Given the description of an element on the screen output the (x, y) to click on. 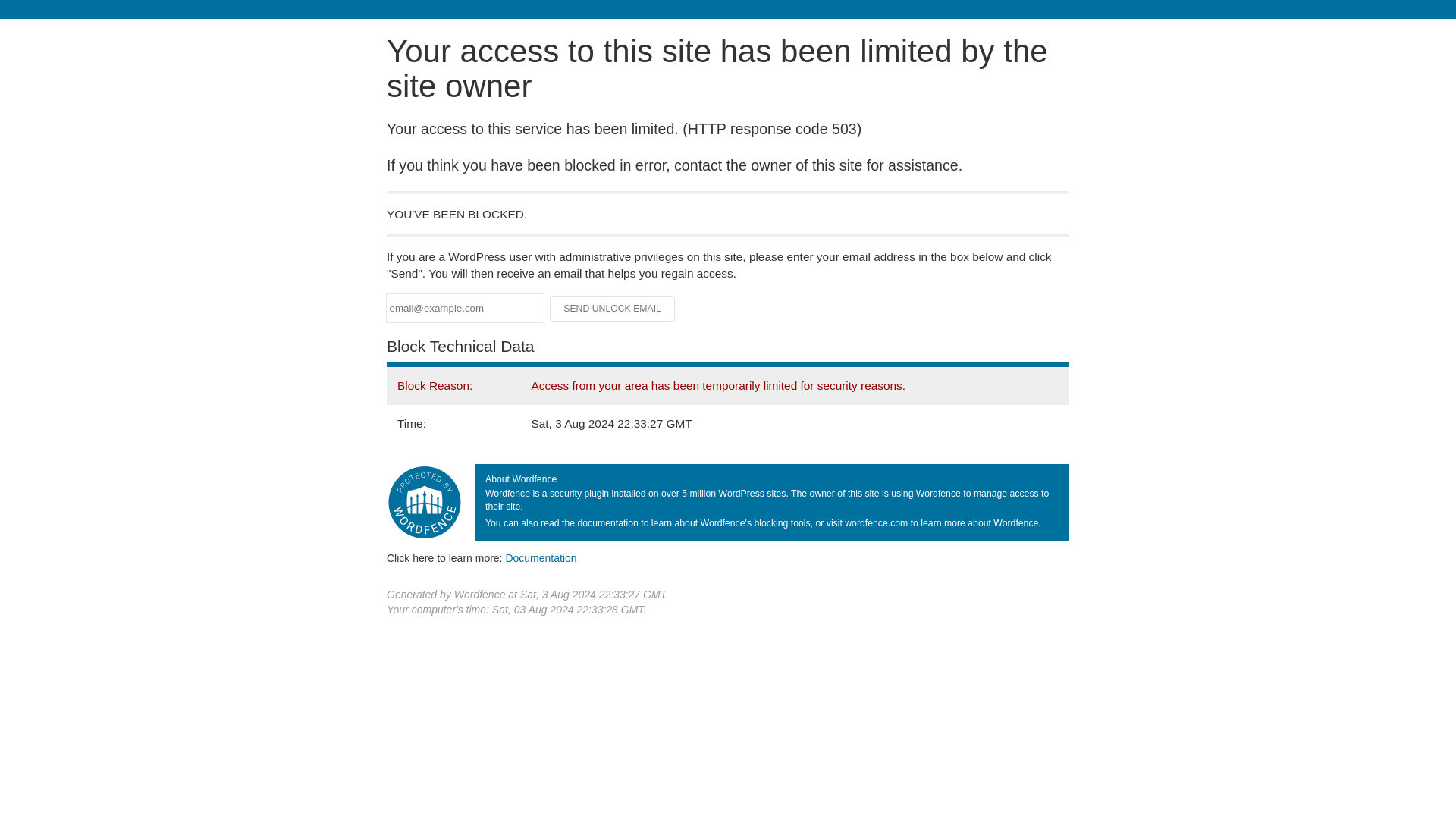
Send Unlock Email (612, 308)
Documentation (540, 558)
Send Unlock Email (612, 308)
